Given the description of an element on the screen output the (x, y) to click on. 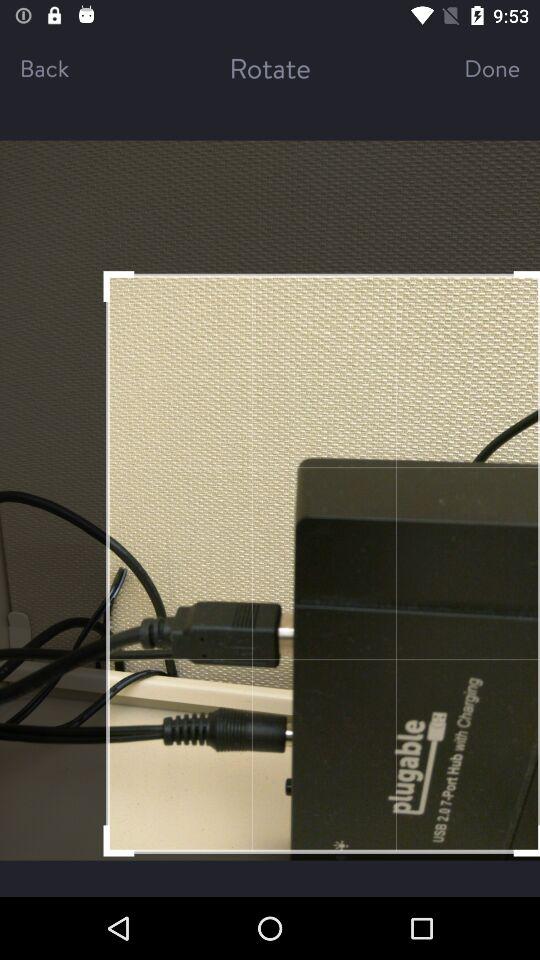
select the item next to done (269, 67)
